Given the description of an element on the screen output the (x, y) to click on. 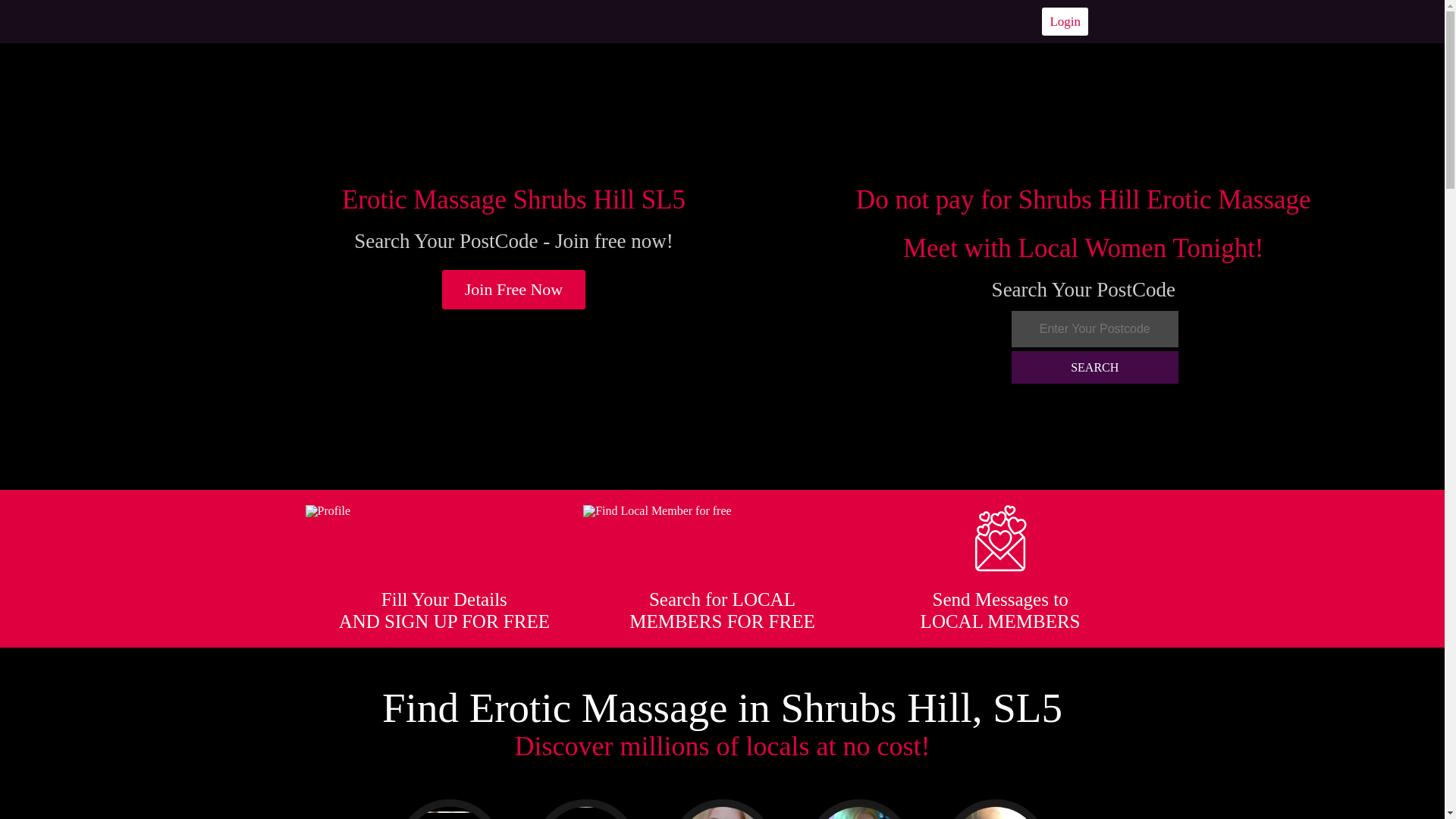
Login (1064, 21)
Login (1064, 21)
Join (514, 289)
SEARCH (1094, 367)
Join Free Now (514, 289)
